Given the description of an element on the screen output the (x, y) to click on. 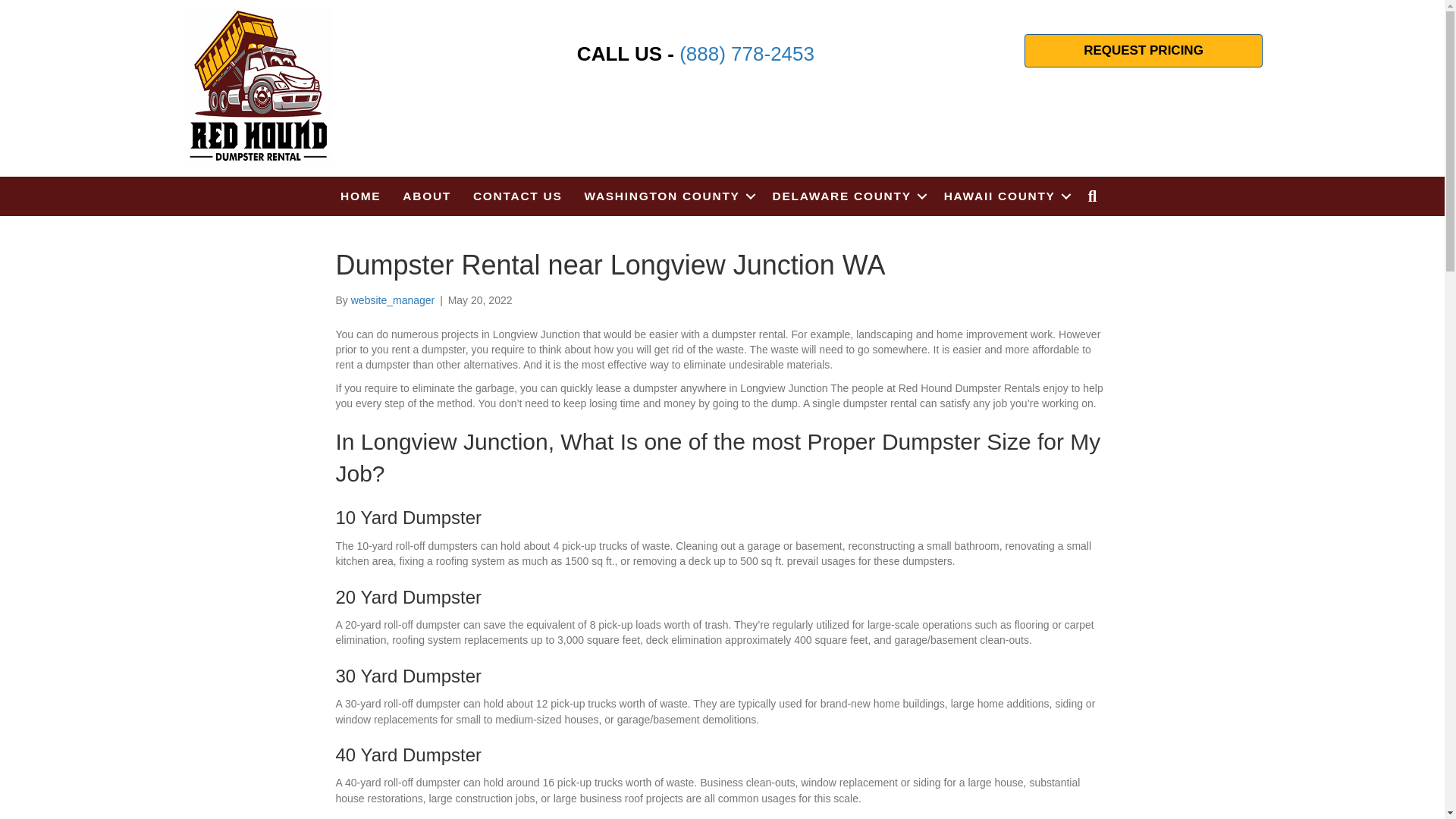
WASHINGTON COUNTY (666, 196)
HAWAII COUNTY (1005, 196)
SEARCH (1096, 195)
CONTACT US (517, 196)
HOME (360, 196)
REQUEST PRICING (1144, 50)
DELAWARE COUNTY (847, 196)
ABOUT (426, 196)
redhounddumpster (258, 86)
